Given the description of an element on the screen output the (x, y) to click on. 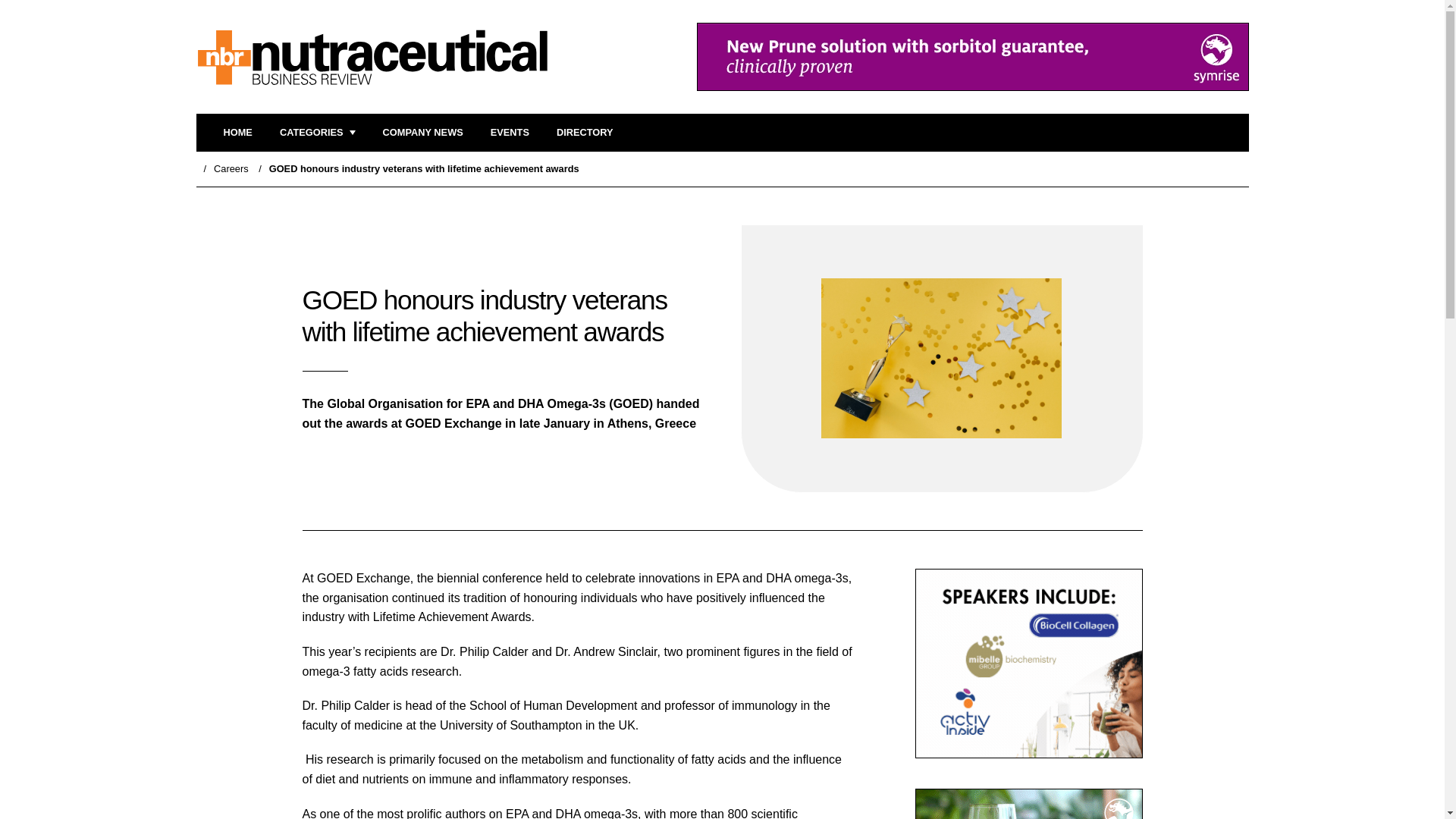
EVENTS (509, 133)
Directory (584, 133)
COMPANY NEWS (422, 133)
DIRECTORY (584, 133)
HOME (236, 133)
CATEGORIES (317, 133)
